Given the description of an element on the screen output the (x, y) to click on. 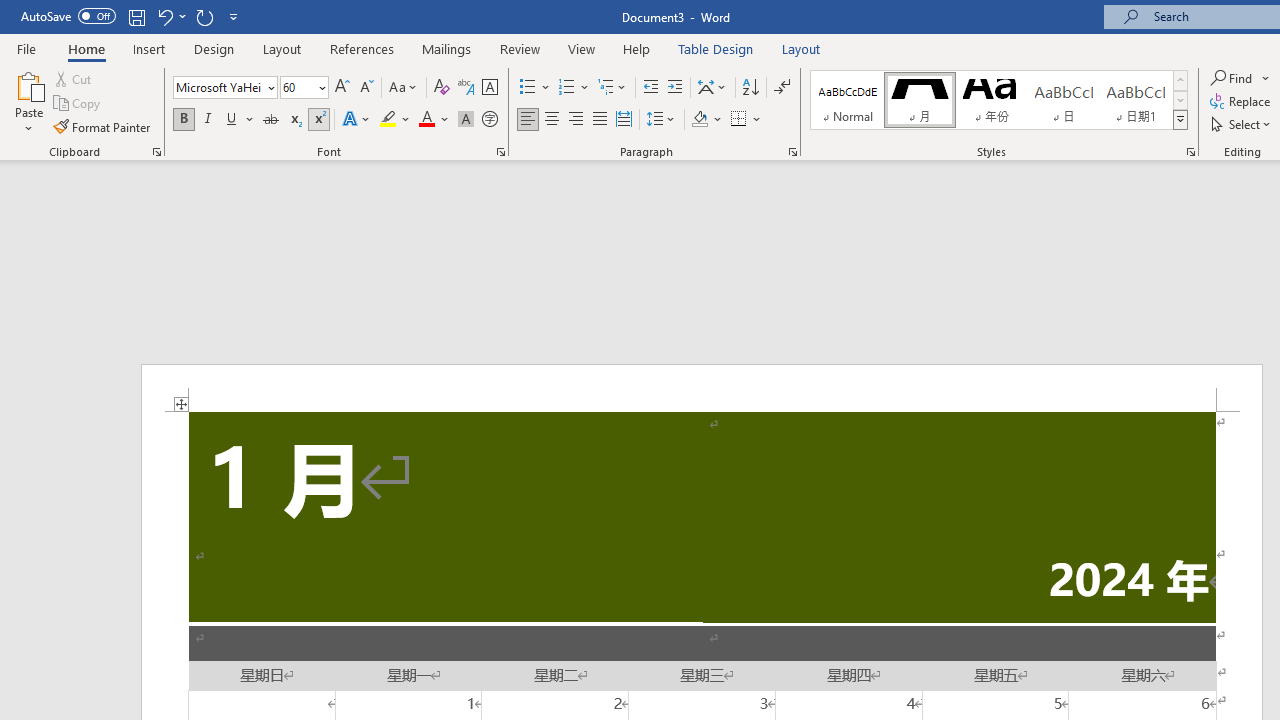
Home (86, 48)
Subscript (294, 119)
Styles... (1190, 151)
Office Clipboard... (156, 151)
Select (1242, 124)
Undo Superscript (164, 15)
Distributed (623, 119)
Font Size (304, 87)
Copy (78, 103)
Text Highlight Color Yellow (388, 119)
More Options (1266, 78)
Insert (149, 48)
Shrink Font (365, 87)
